Given the description of an element on the screen output the (x, y) to click on. 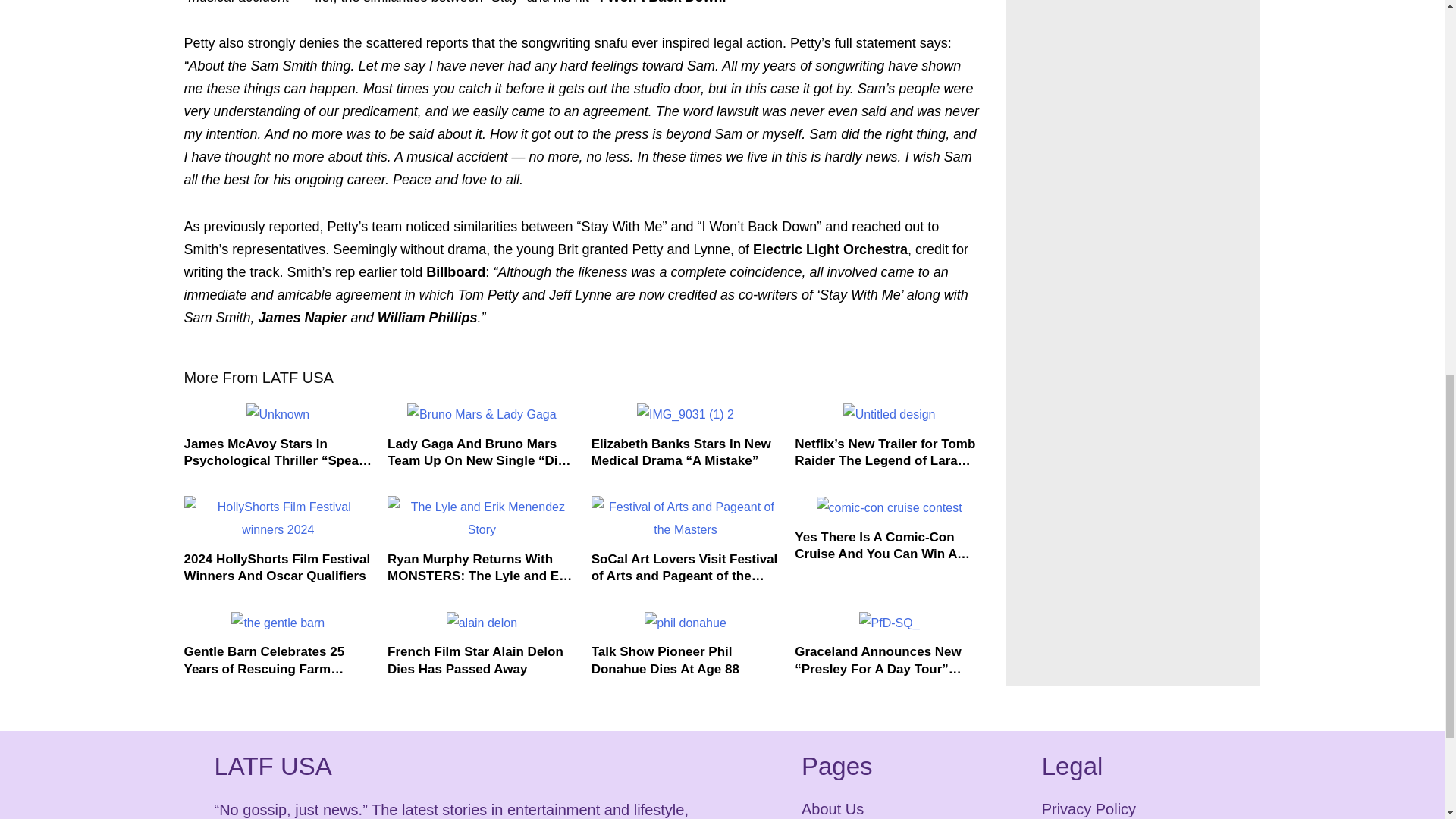
phil donahue (685, 622)
the gentle barn (277, 622)
The Lyle and Erik Menendez Story (481, 518)
Festival of Arts and Pageant of the Masters (685, 518)
alain delon (481, 622)
Unknown (277, 414)
HollyShorts Film Festival winners 2024 (277, 518)
Untitled design (889, 414)
comic-con cruise contest (889, 507)
